Given the description of an element on the screen output the (x, y) to click on. 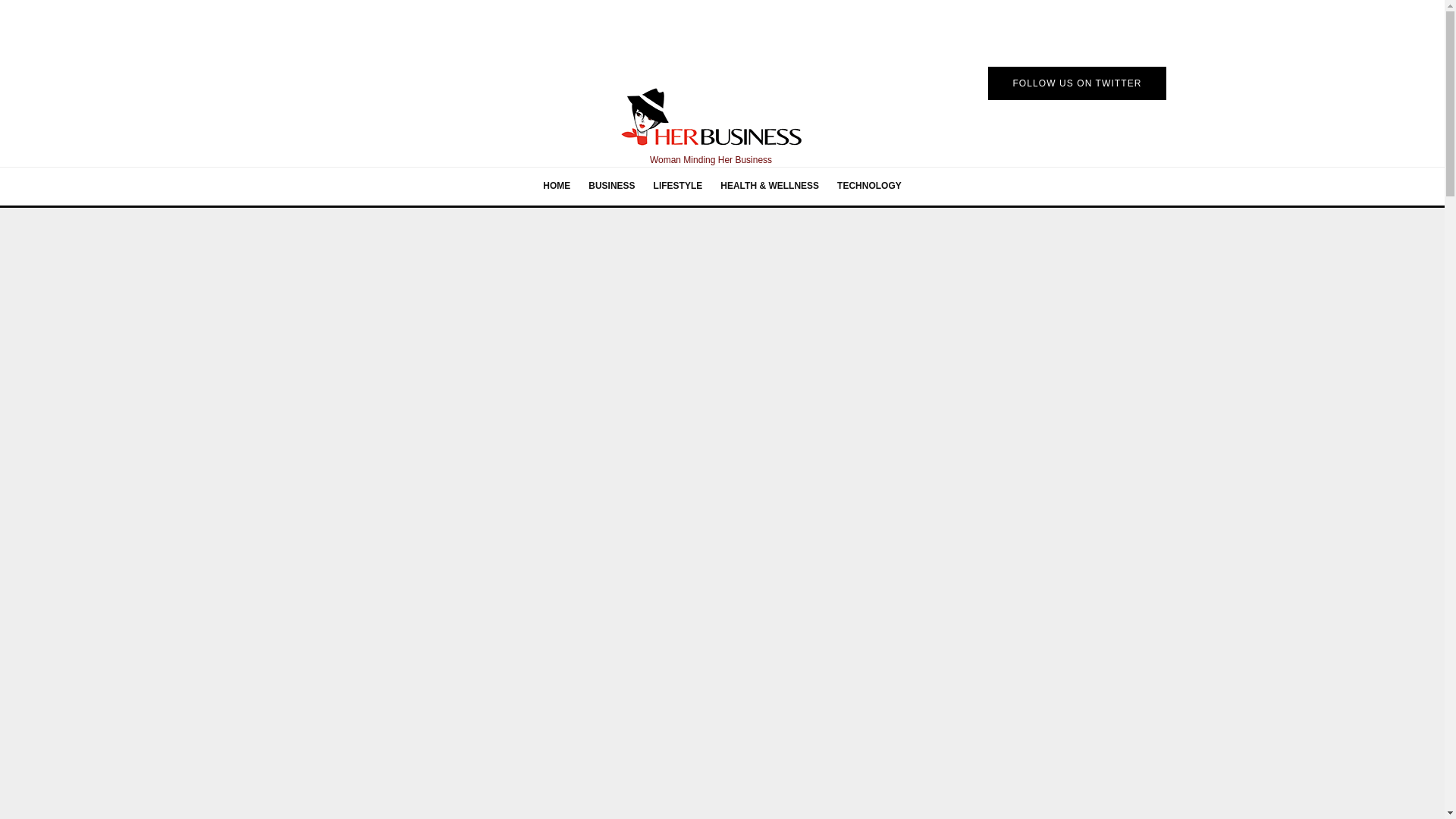
Woman Minding Her Business (710, 126)
LIFESTYLE (678, 186)
FOLLOW US ON TWITTER (1077, 82)
TECHNOLOGY (869, 186)
HOME (556, 186)
BUSINESS (611, 186)
